Given the description of an element on the screen output the (x, y) to click on. 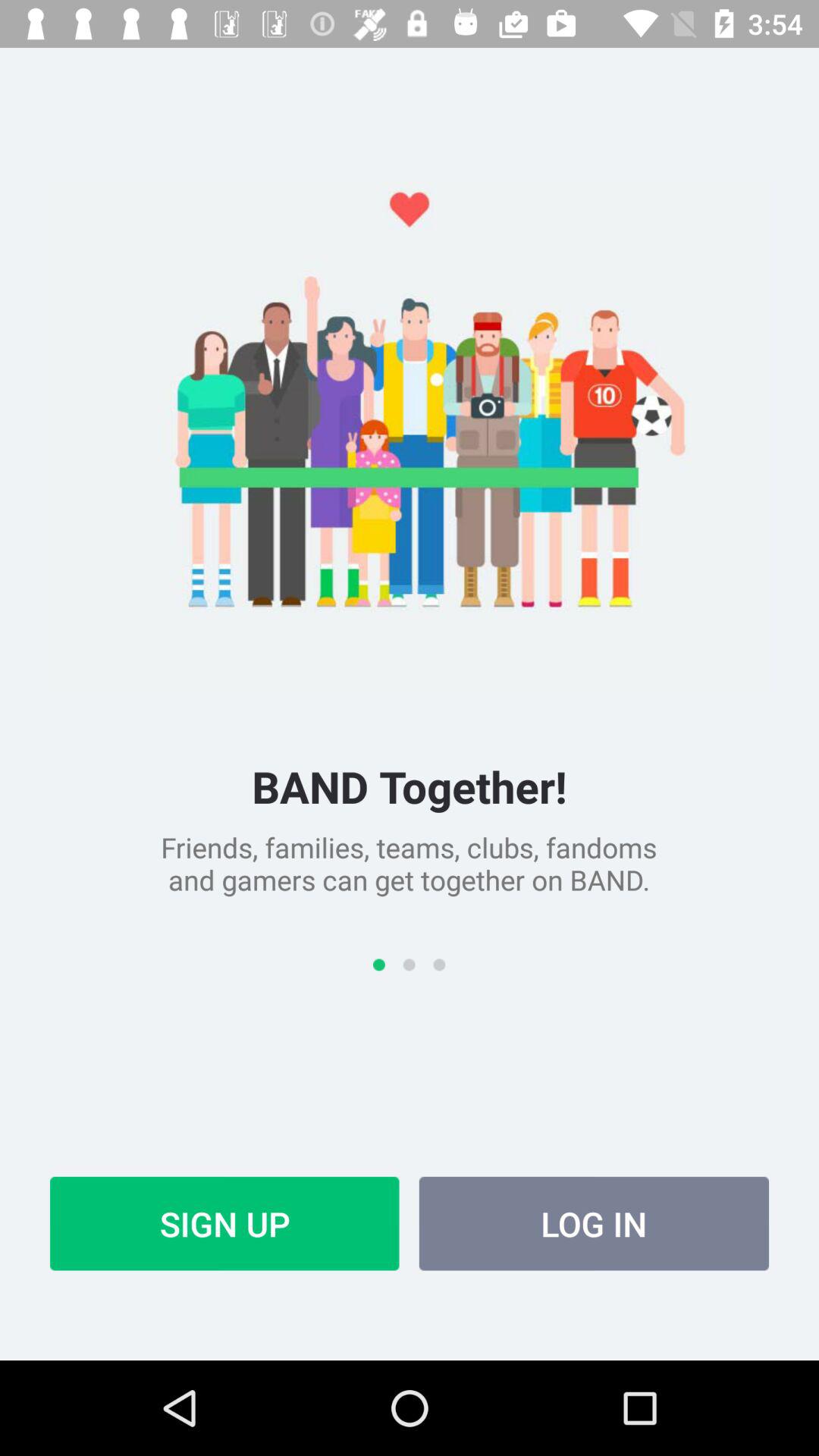
scroll to the sign up icon (224, 1223)
